Given the description of an element on the screen output the (x, y) to click on. 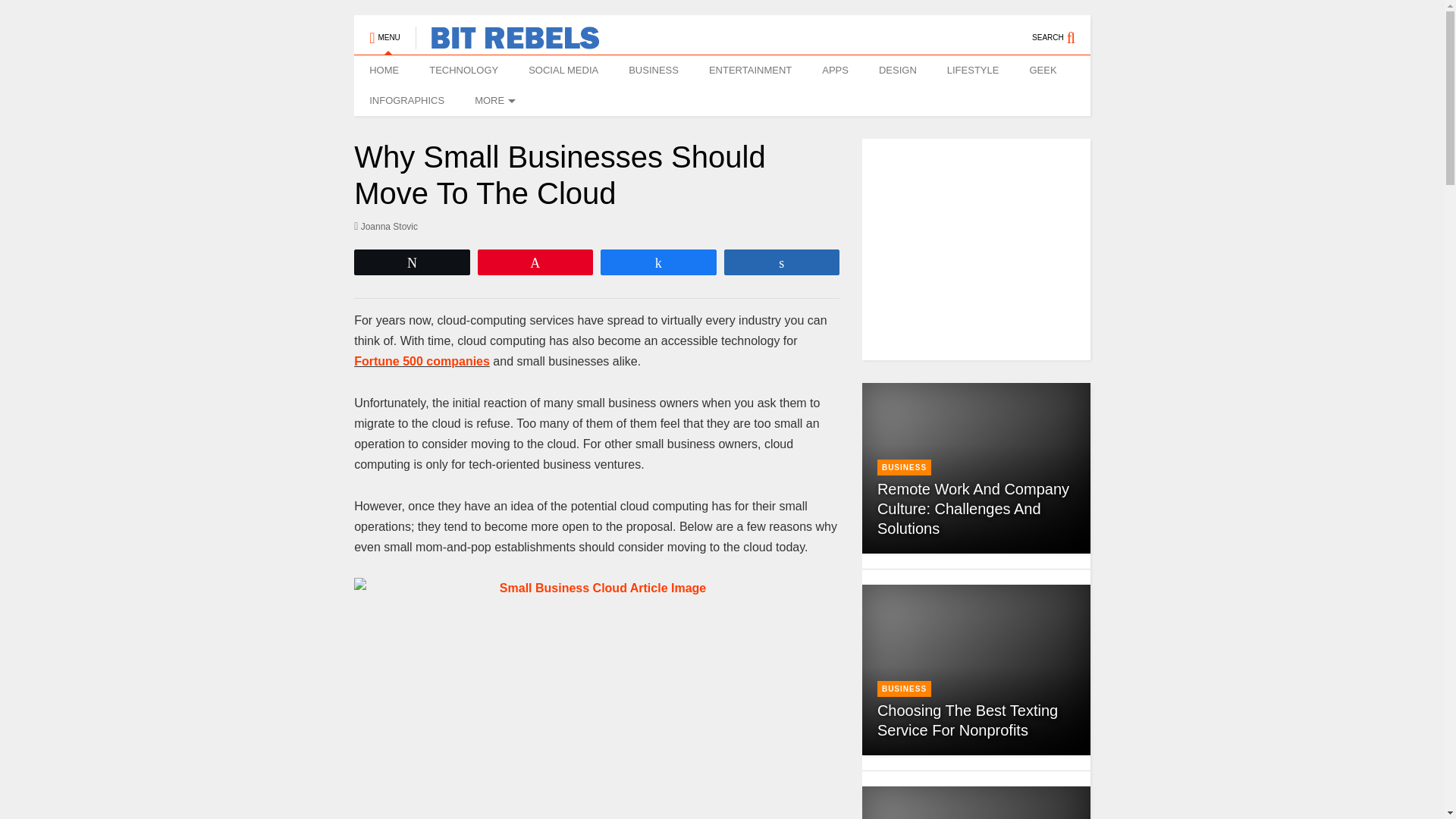
Joanna Stovic (385, 226)
APPS (834, 70)
ENTERTAINMENT (750, 70)
INFOGRAPHICS (406, 100)
Choosing The Best Texting Service For Nonprofits (967, 719)
Joanna Stovic (385, 226)
LIFESTYLE (972, 70)
MENU (383, 30)
Bit Rebels (506, 42)
HOME (383, 70)
BUSINESS (653, 70)
Advertisement (991, 248)
MORE (493, 100)
DESIGN (897, 70)
GEEK (1042, 70)
